Given the description of an element on the screen output the (x, y) to click on. 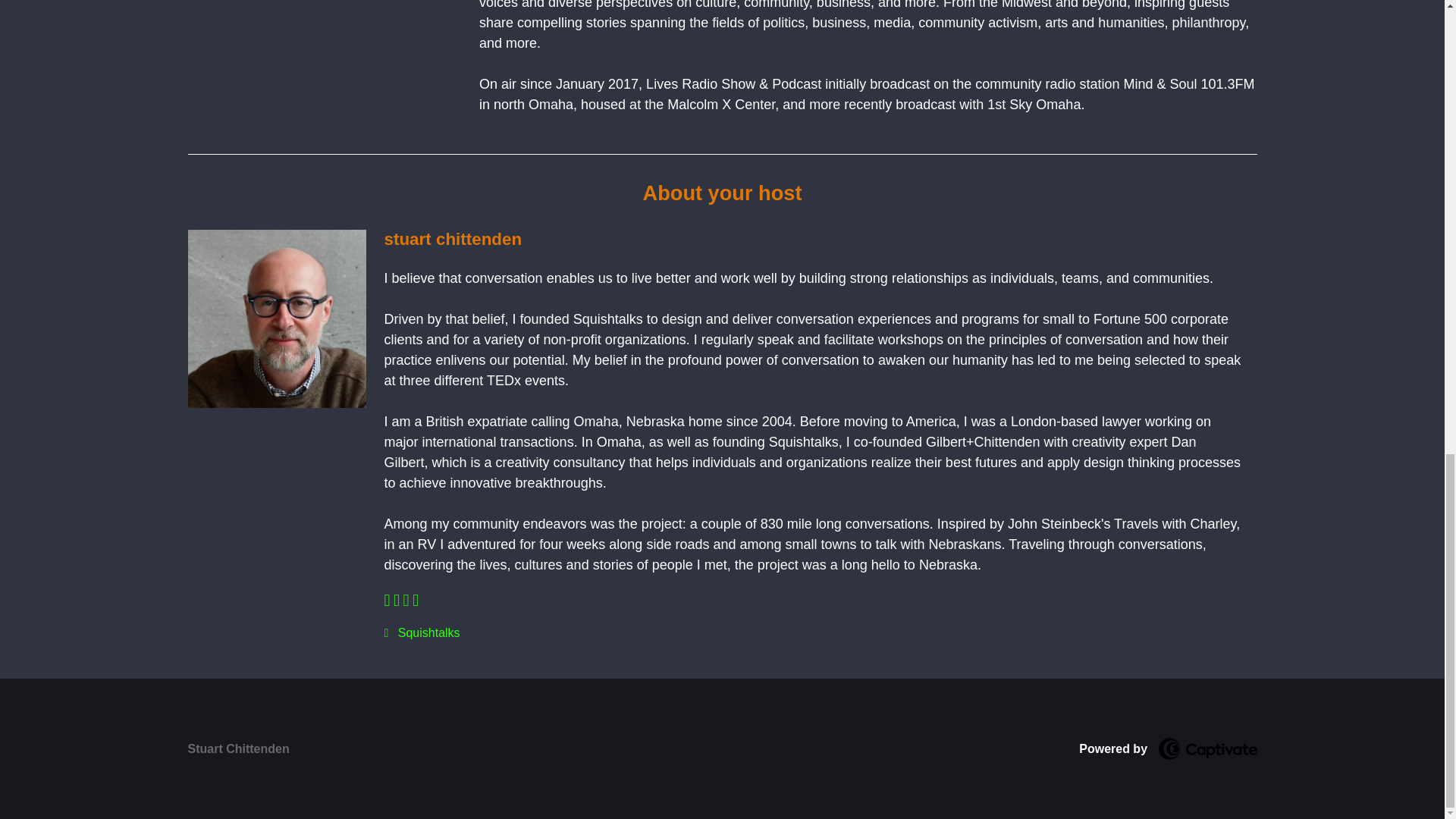
Squishtalks (820, 633)
